Given the description of an element on the screen output the (x, y) to click on. 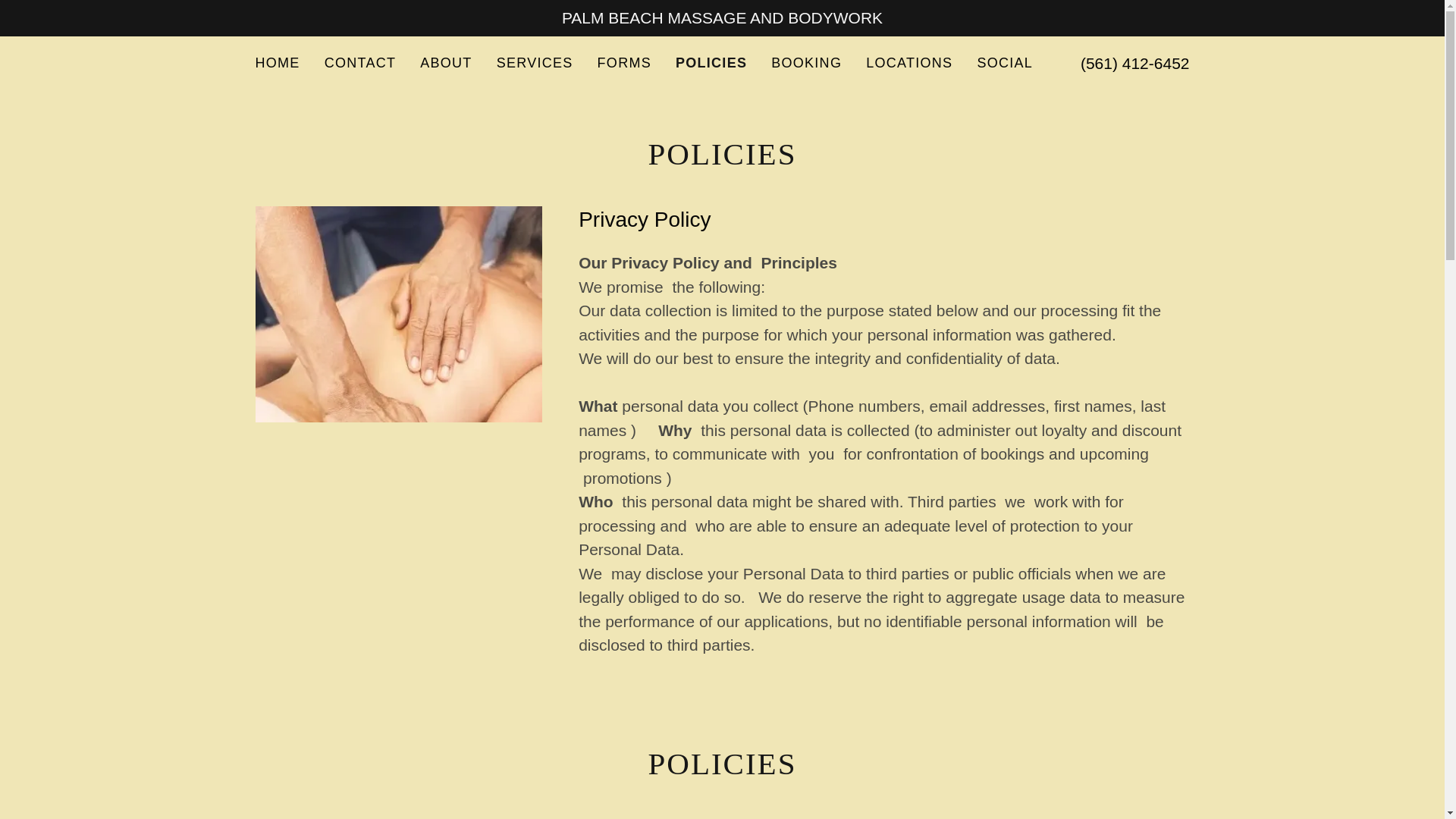
BOOKING (806, 62)
SERVICES (535, 62)
FORMS (624, 62)
LOCATIONS (908, 62)
ABOUT (445, 62)
CONTACT (360, 62)
POLICIES (710, 63)
HOME (277, 62)
SOCIAL (1004, 62)
